Given the description of an element on the screen output the (x, y) to click on. 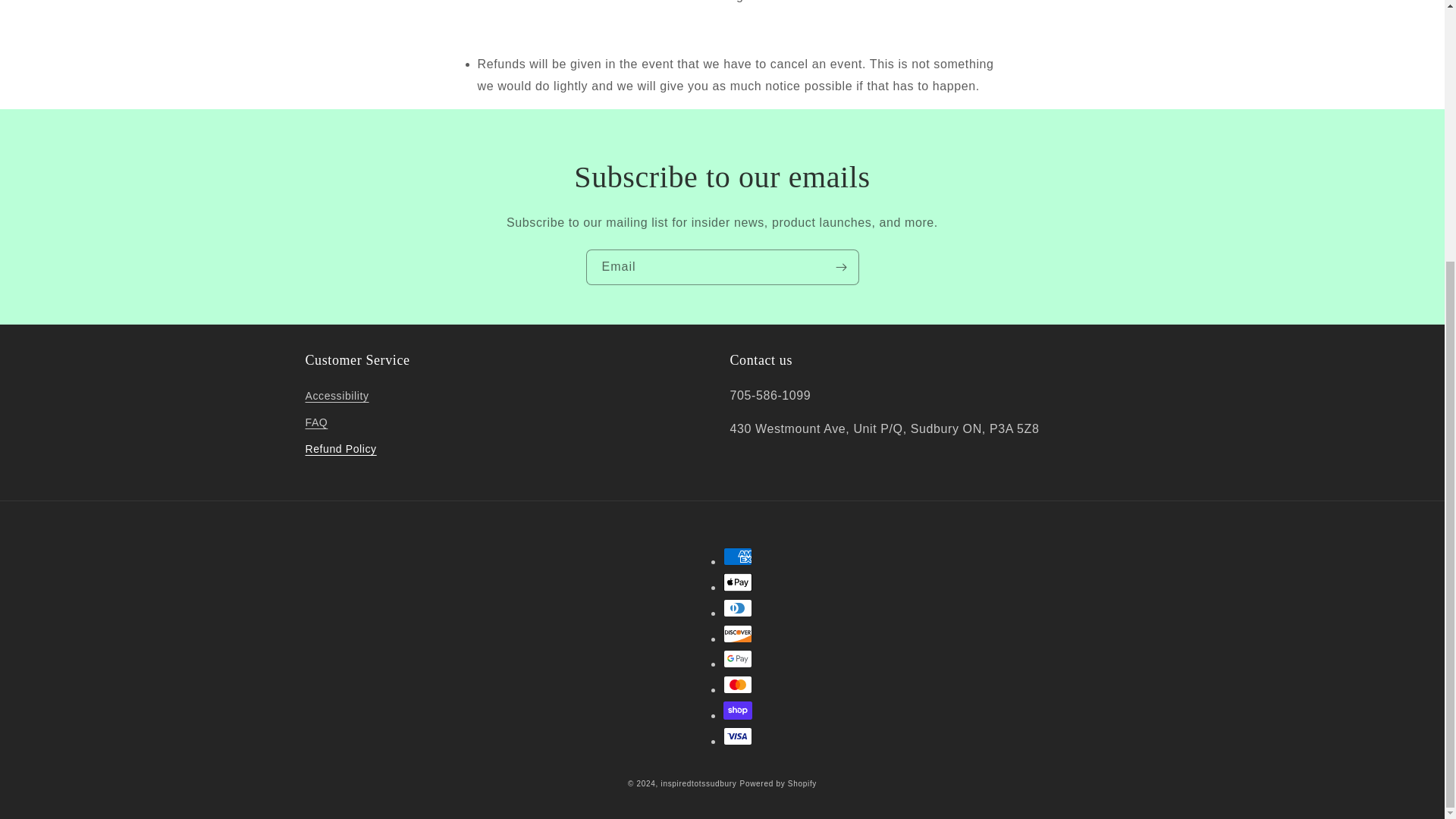
Diners Club (737, 607)
Google Pay (737, 659)
Mastercard (737, 684)
Apple Pay (737, 582)
Visa (737, 736)
Shop Pay (737, 710)
Discover (737, 633)
American Express (737, 556)
